Given the description of an element on the screen output the (x, y) to click on. 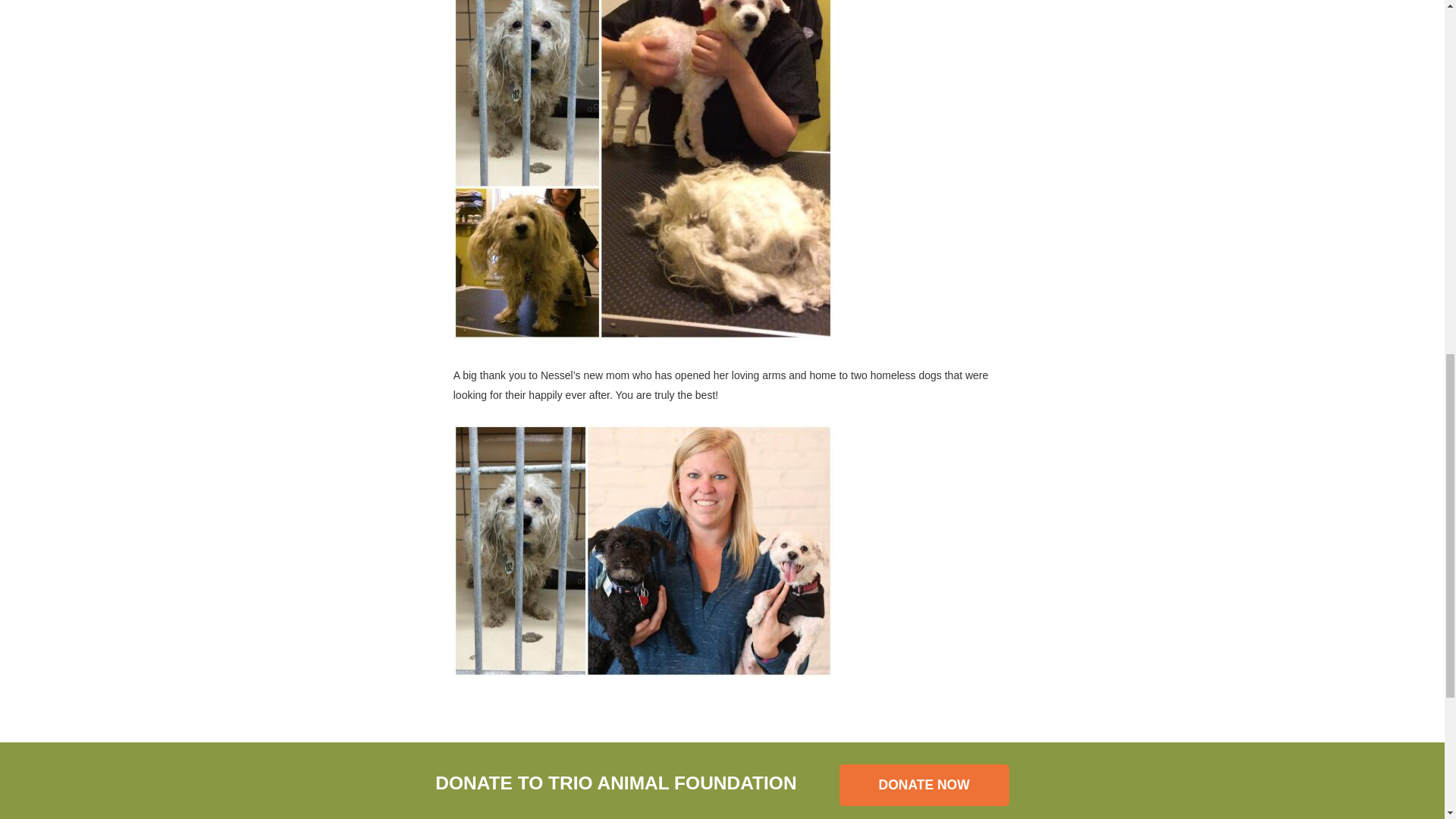
DONATE NOW (924, 784)
